Given the description of an element on the screen output the (x, y) to click on. 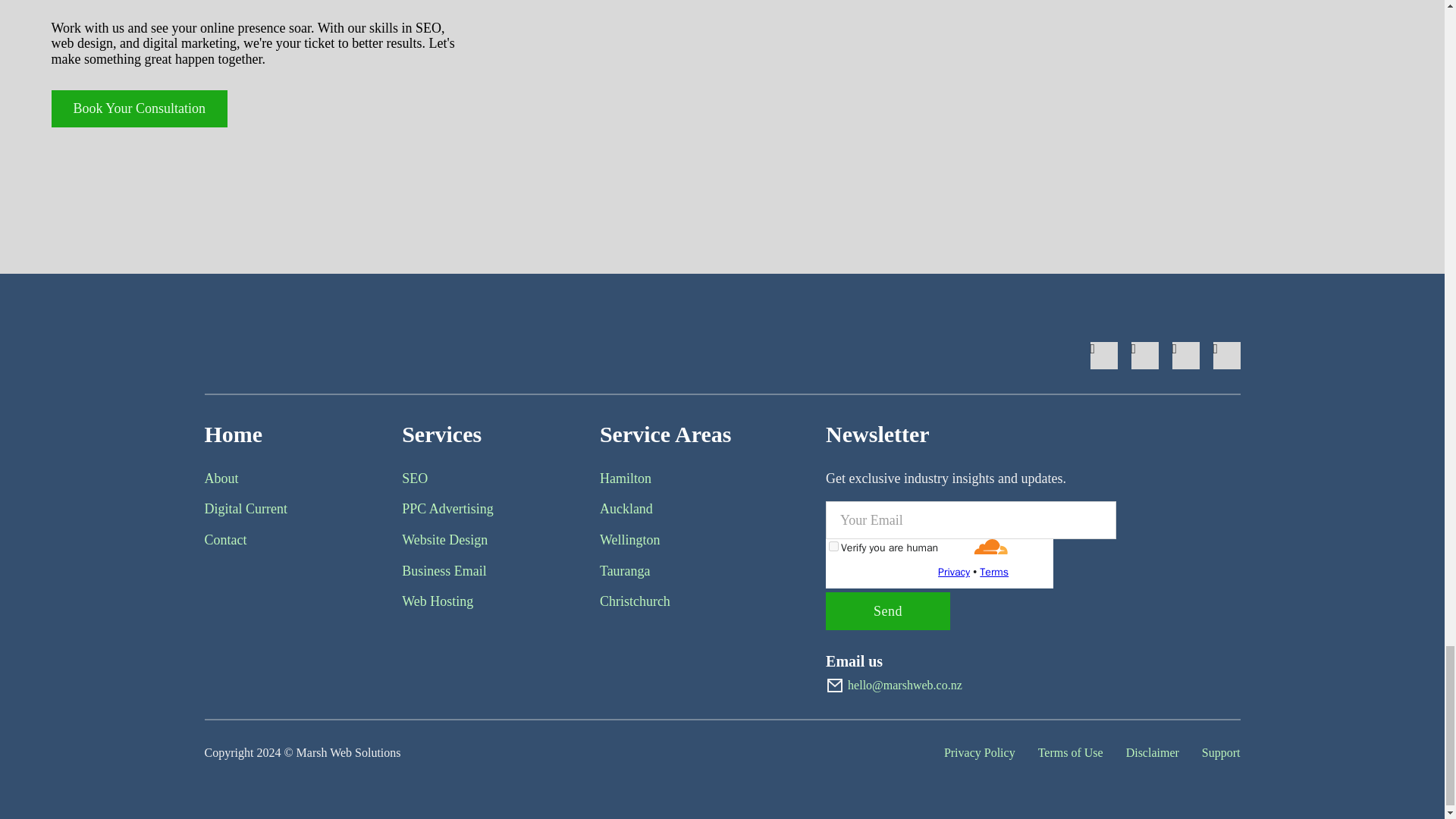
Follow Marsh Web Solutions on Facebook (1104, 355)
About (221, 478)
Follow Marsh Web Solutions on LinkedIn (1185, 355)
Follow Marsh Web Solutions through RSS feed (1226, 355)
Contact (226, 539)
Digital Current (245, 508)
Book Your Consultation (139, 108)
Home (234, 433)
Follow Marsh Web Solutions on Instagram (1144, 355)
